Given the description of an element on the screen output the (x, y) to click on. 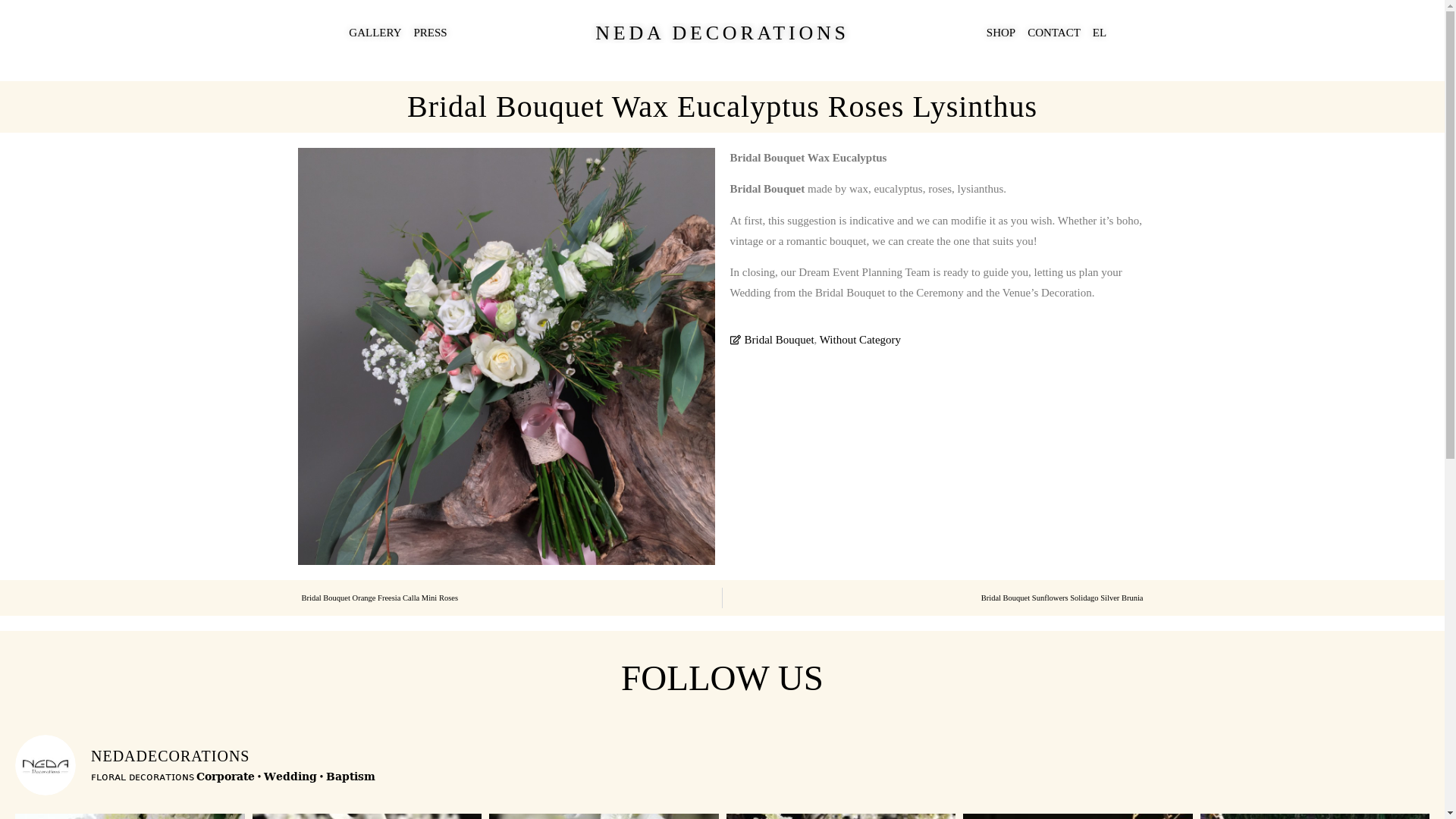
GALLERY (375, 32)
Bridal Bouquet (778, 339)
CONTACT (1053, 32)
NEDA DECORATIONS (721, 32)
PRESS (429, 32)
Bridal Bouquet Sunflowers Solidago Silver Brunia (938, 598)
SHOP (1000, 32)
Without Category (860, 339)
Bridal Bouquet Orange Freesia Calla Mini Roses (505, 598)
